Given the description of an element on the screen output the (x, y) to click on. 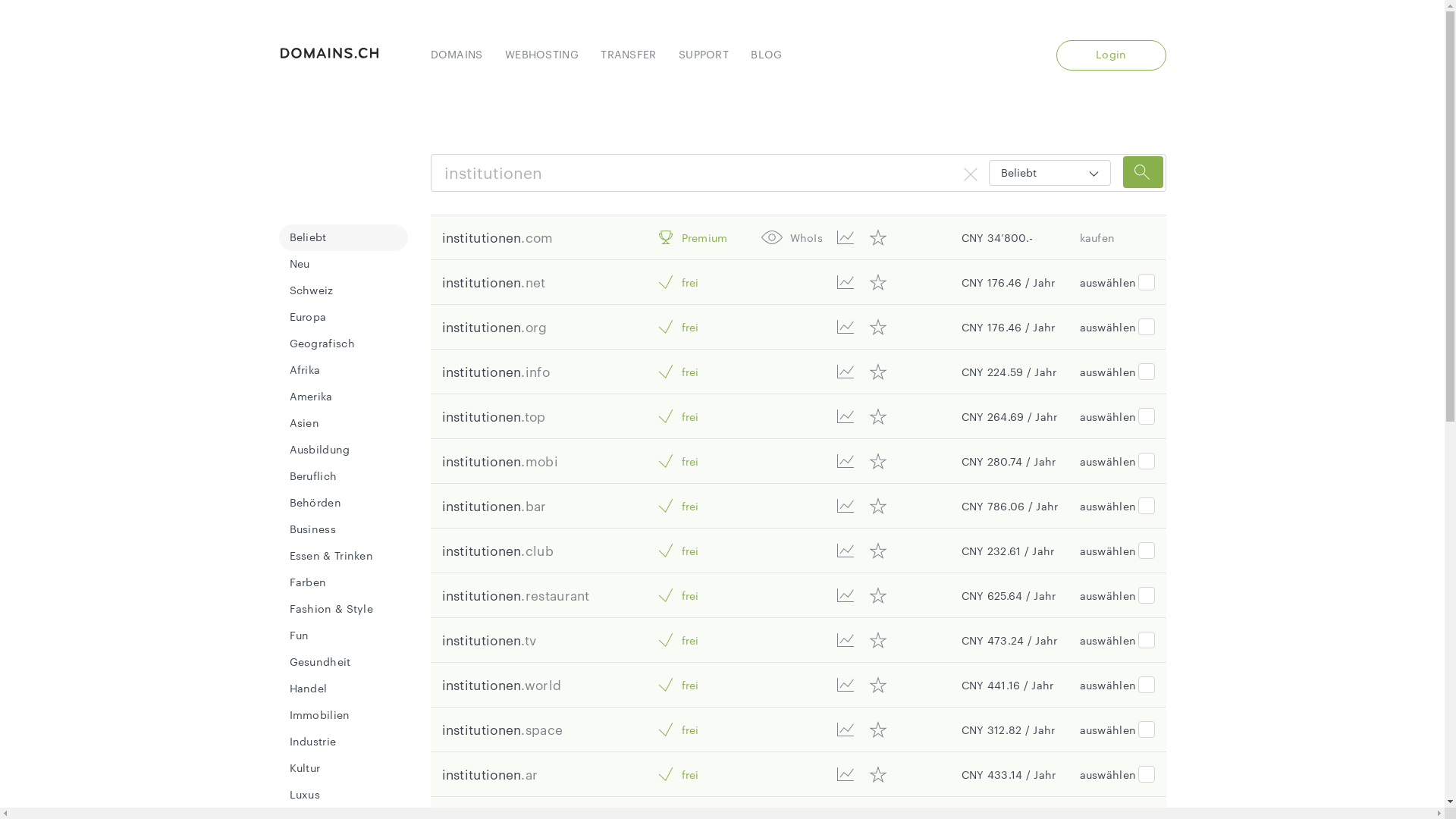
Kultur Element type: text (304, 767)
WhoIs Element type: text (806, 237)
Luxus Element type: text (304, 793)
Afrika Element type: text (304, 369)
.world Element type: text (540, 684)
Handel Element type: text (308, 687)
Geografisch Element type: text (321, 342)
.net Element type: text (532, 281)
Europa Element type: text (307, 316)
Essen & Trinken Element type: text (331, 555)
Amerika Element type: text (310, 395)
Fashion & Style Element type: text (331, 608)
Login Element type: text (1111, 55)
DOMAINS Element type: text (456, 53)
.bar Element type: text (533, 505)
Industrie Element type: text (312, 740)
Fun Element type: text (299, 634)
Neu Element type: text (299, 263)
.info Element type: text (534, 371)
Ausbildung Element type: text (319, 448)
Farben Element type: text (307, 581)
Beliebt Element type: text (307, 236)
.top Element type: text (532, 415)
.space Element type: text (541, 729)
Beruflich Element type: text (313, 475)
Beliebt
  Element type: text (1049, 172)
SUPPORT Element type: text (703, 53)
.com Element type: text (536, 236)
Gesundheit Element type: text (320, 661)
.tv Element type: text (528, 639)
Schweiz Element type: text (311, 289)
WEBHOSTING Element type: text (541, 53)
Asien Element type: text (304, 422)
.org Element type: text (533, 326)
.mobi Element type: text (539, 460)
.restaurant Element type: text (554, 594)
BLOG Element type: text (765, 53)
kaufen Element type: text (1097, 237)
TRANSFER Element type: text (627, 53)
.ar Element type: text (528, 773)
Immobilien Element type: text (319, 714)
Business Element type: text (312, 528)
.club Element type: text (536, 550)
